Given the description of an element on the screen output the (x, y) to click on. 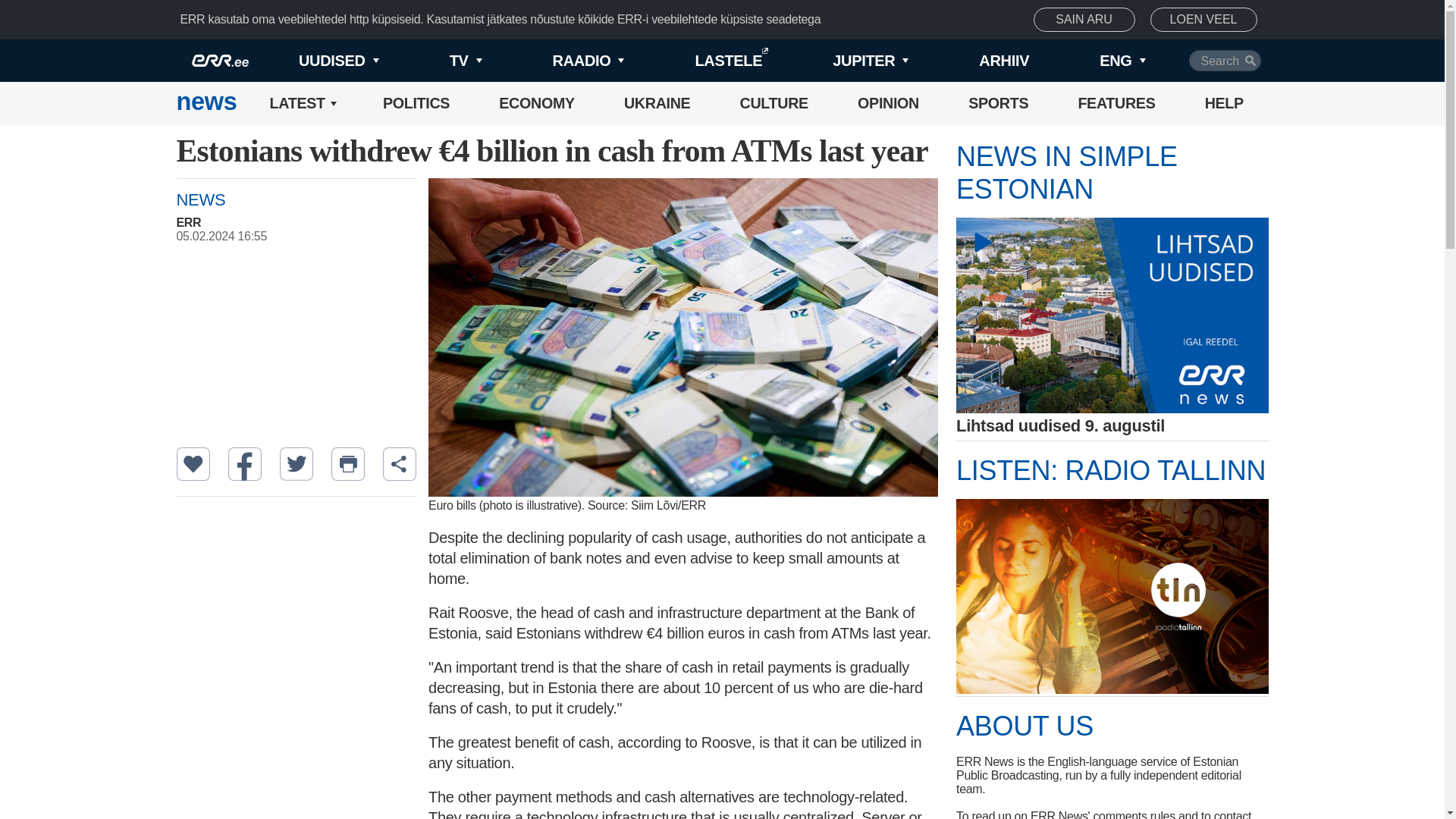
TV (440, 60)
UUDISED (314, 60)
LOEN VEEL (1203, 19)
RAADIO (563, 60)
Avalehele (205, 103)
SAIN ARU (1084, 19)
05.02.2024 16:55 (302, 236)
